Given the description of an element on the screen output the (x, y) to click on. 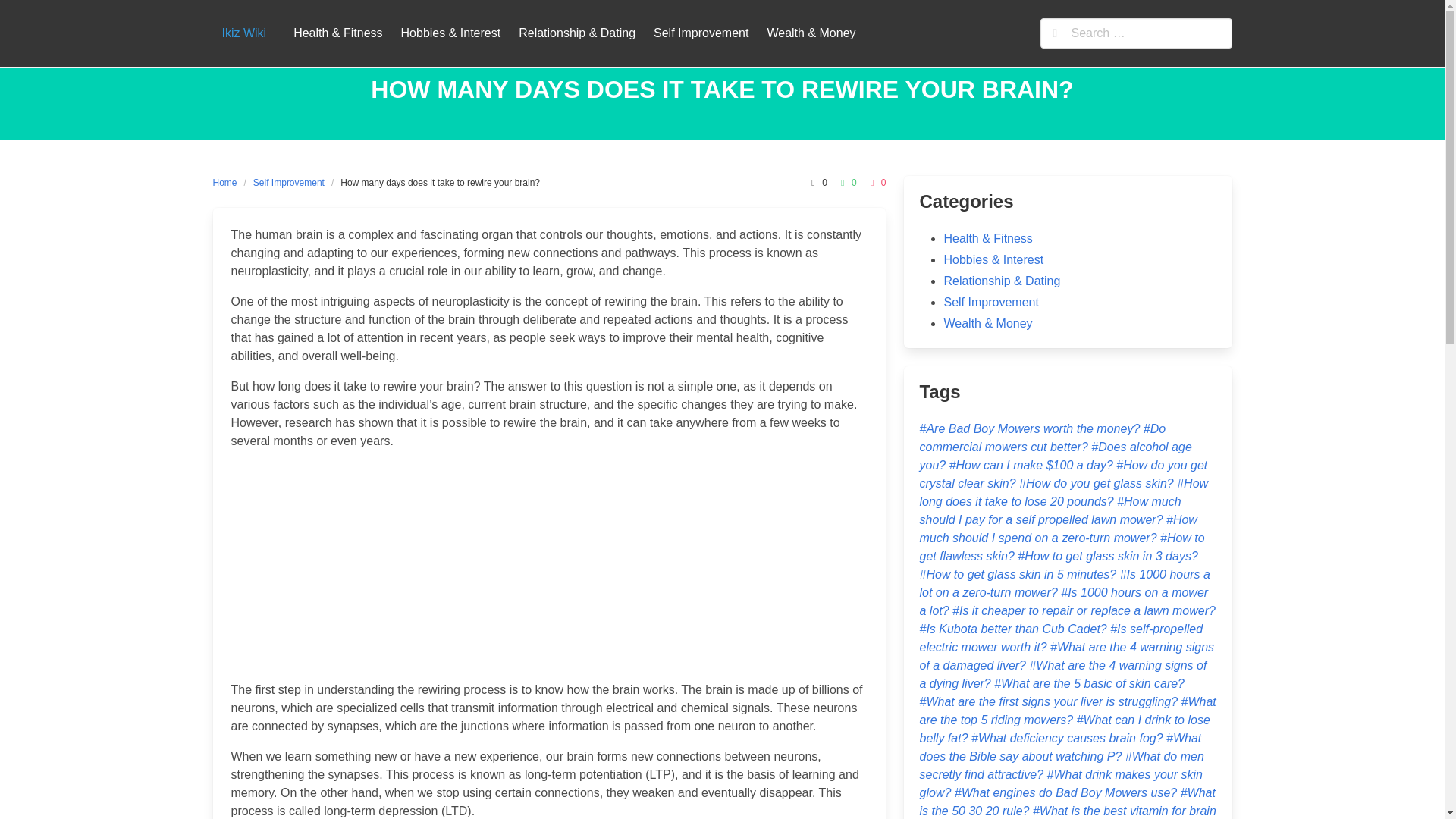
Self Improvement (701, 33)
Ikiz Wiki (243, 33)
Self Improvement (990, 301)
Ikiz Wiki (243, 33)
0 (876, 182)
How many days does it take to rewire your brain? (440, 182)
0 (816, 182)
Self Improvement (701, 33)
0 (846, 182)
Home (227, 182)
Self Improvement (288, 182)
